Given the description of an element on the screen output the (x, y) to click on. 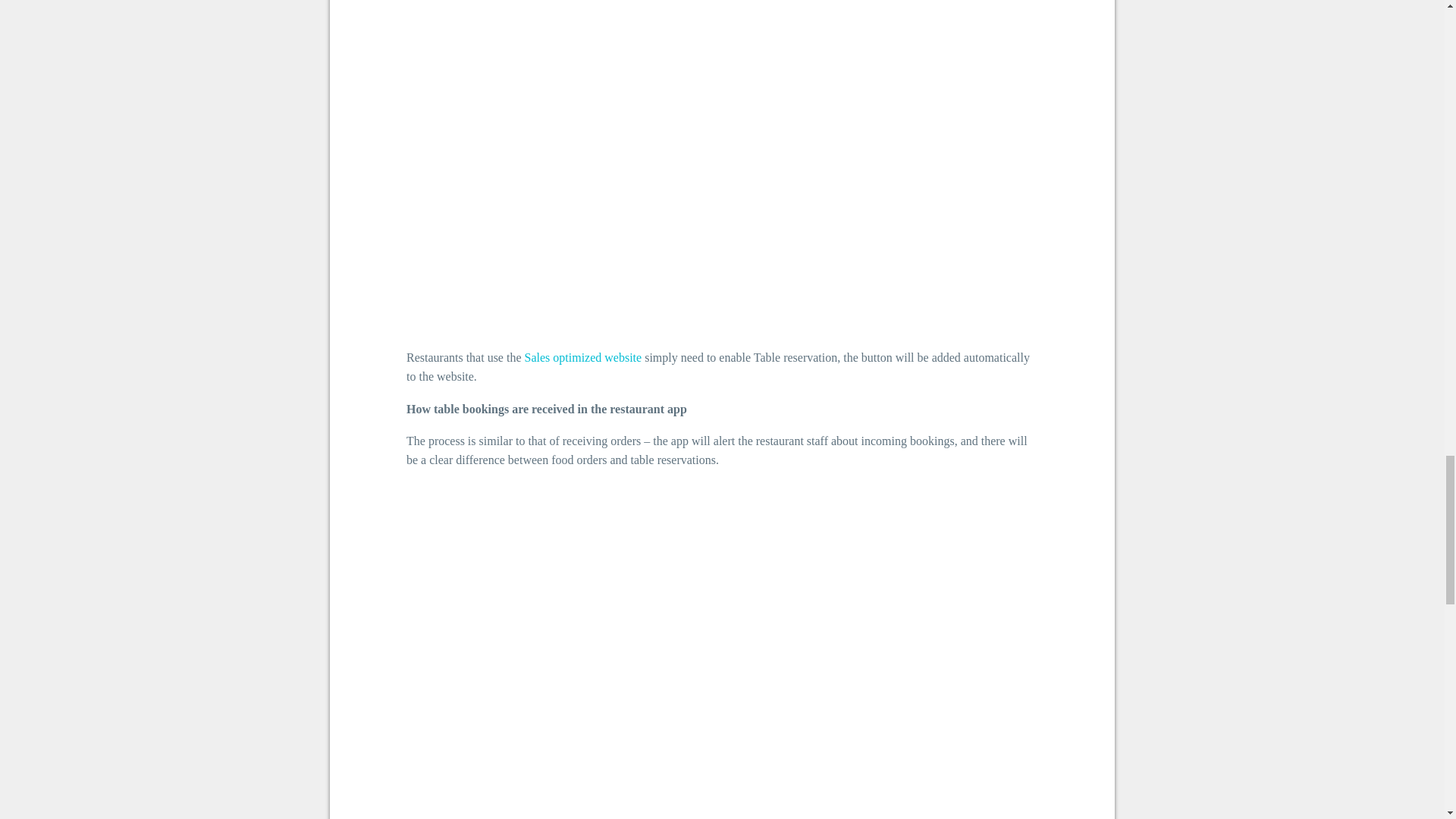
Sales optimized website (583, 357)
